Given the description of an element on the screen output the (x, y) to click on. 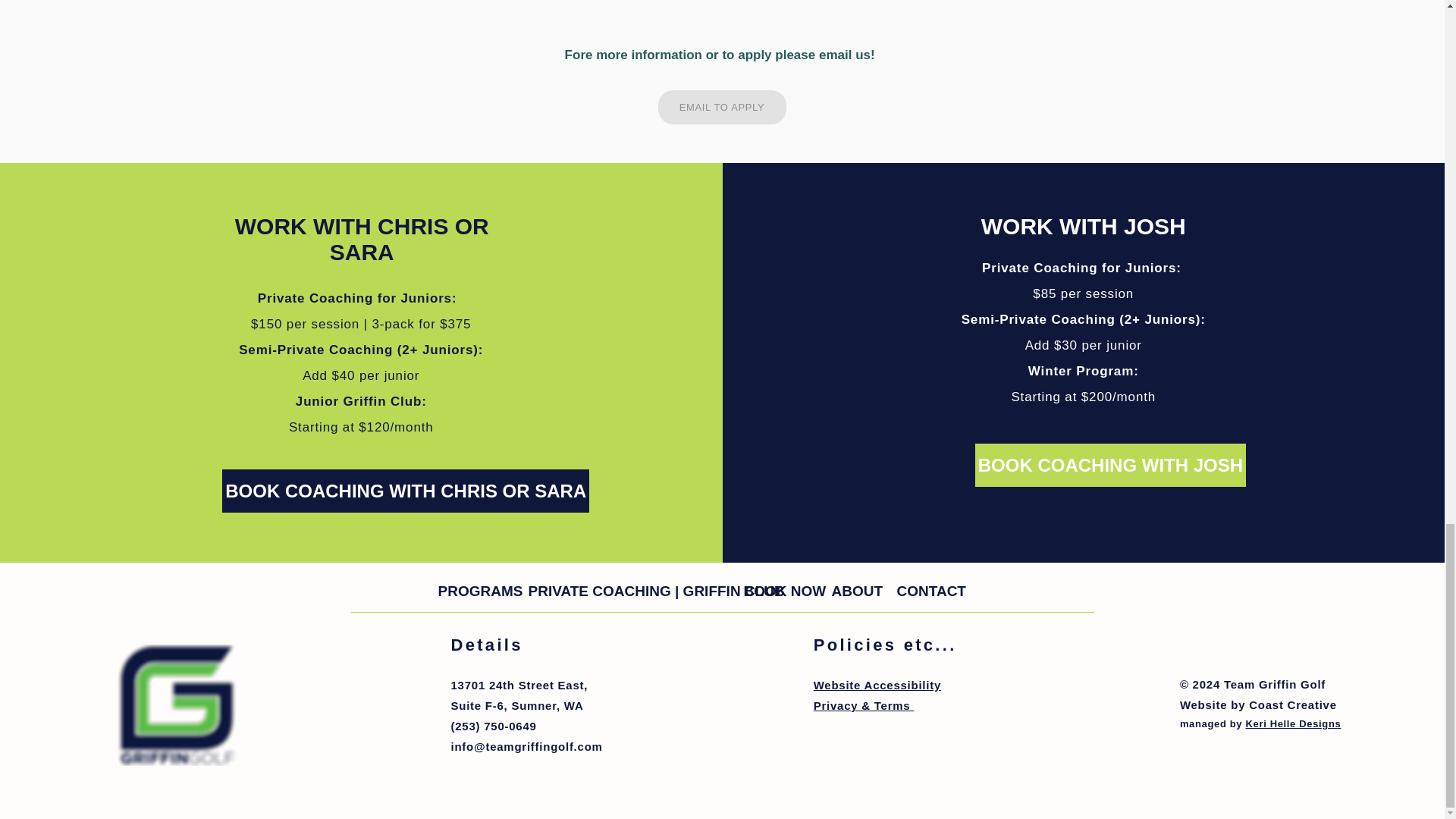
Website Accessibility (876, 684)
EMAIL TO APPLY (722, 107)
BOOK COACHING WITH CHRIS OR SARA (519, 694)
BOOK COACHING WITH JOSH (405, 490)
BOOK NOW (1110, 464)
CONTACT (776, 590)
Keri Helle Designs (924, 590)
